Given the description of an element on the screen output the (x, y) to click on. 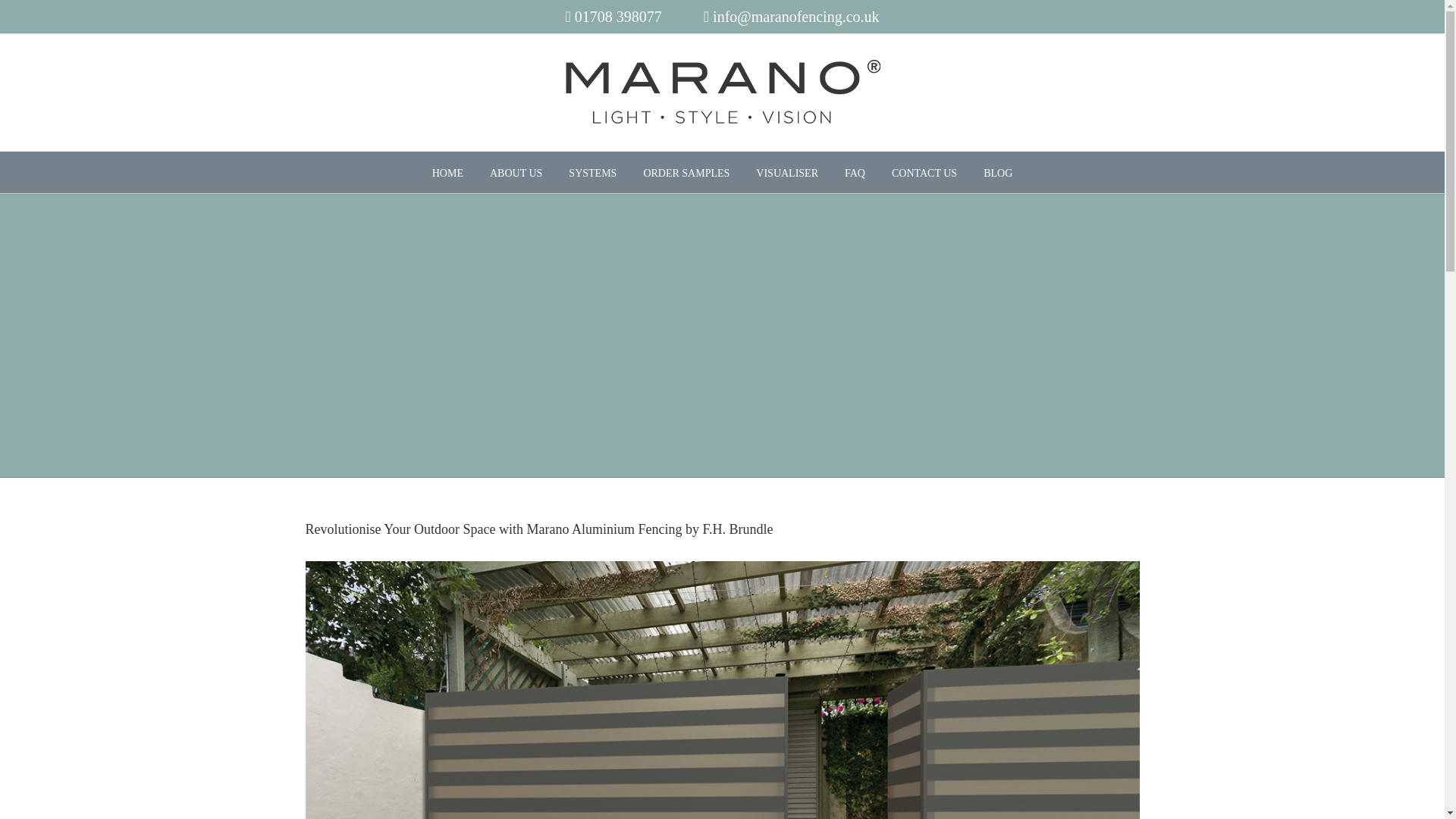
VISUALISER (786, 172)
ABOUT US (515, 172)
SYSTEMS (592, 172)
CONTACT US (923, 172)
ORDER SAMPLES (686, 172)
